Given the description of an element on the screen output the (x, y) to click on. 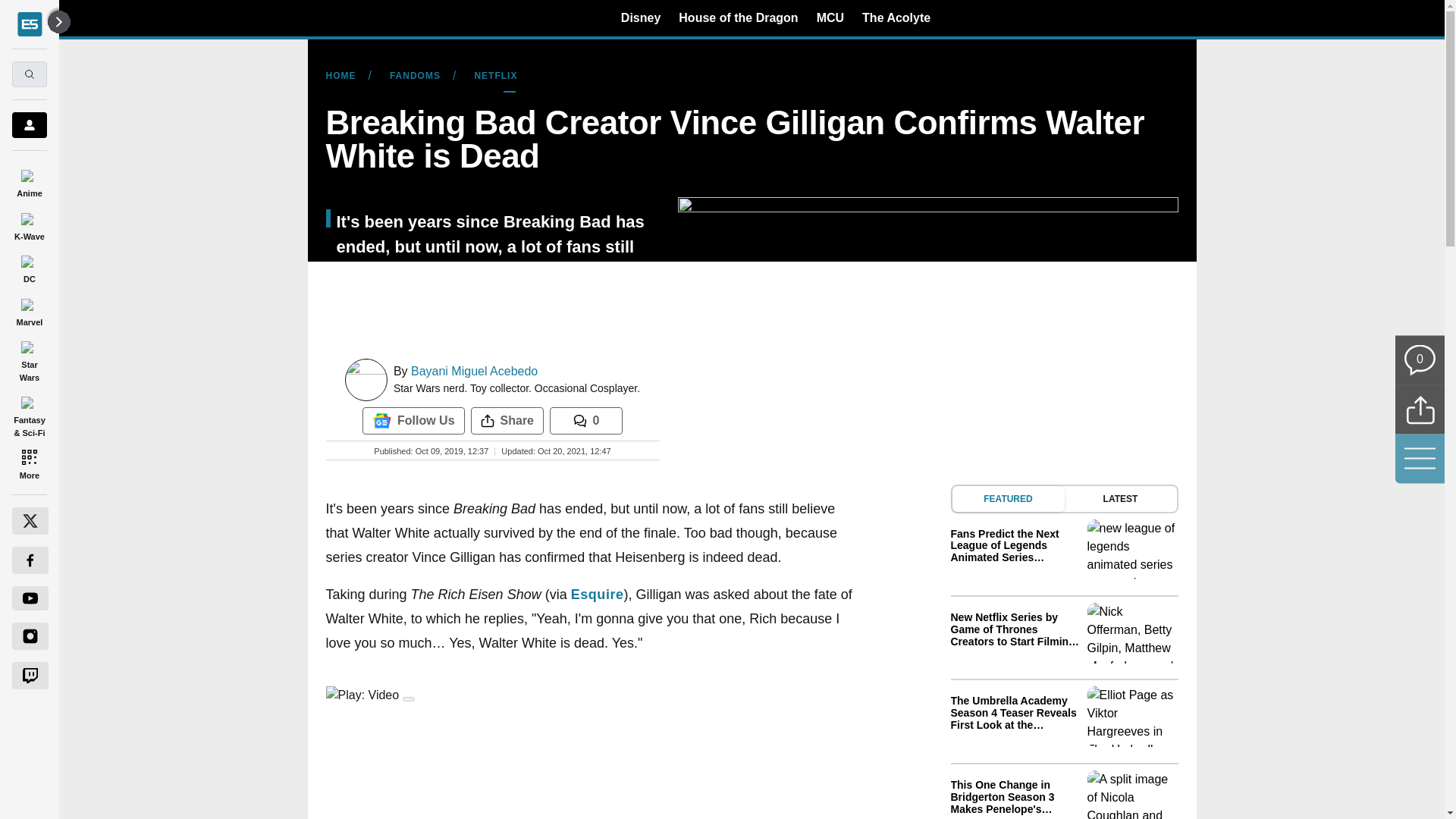
More (28, 463)
Play: Video (591, 695)
DC (28, 266)
The Acolyte (895, 18)
House of the Dragon (737, 18)
Marvel (28, 309)
MCU (830, 18)
Disney (641, 18)
Anime (28, 180)
K-Wave (28, 224)
